Given the description of an element on the screen output the (x, y) to click on. 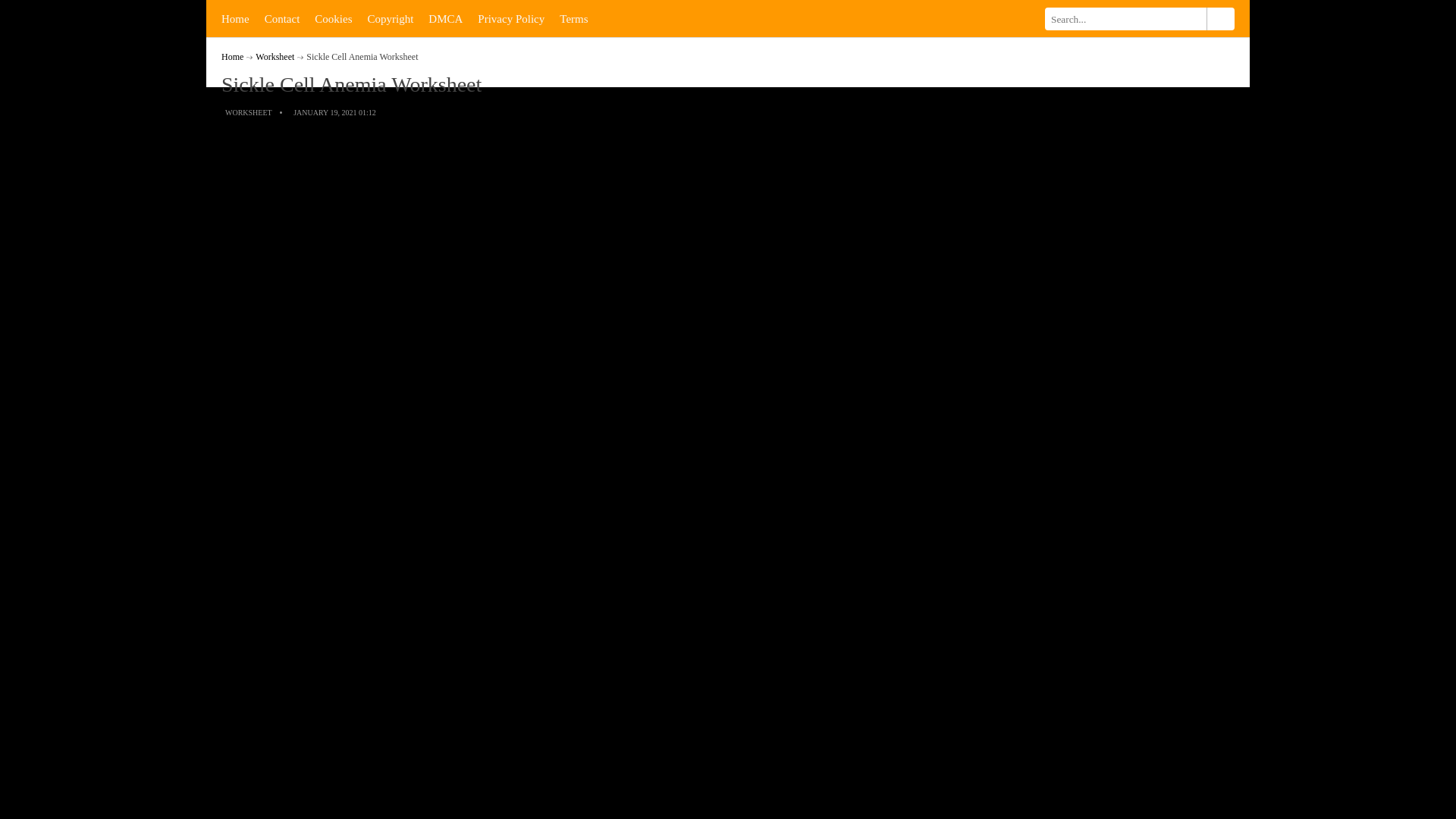
Contact (282, 18)
Privacy Policy (510, 18)
Copyright (389, 18)
Worksheet (275, 56)
Search (1219, 18)
DMCA (445, 18)
Cookies (333, 18)
Terms (573, 18)
Home (235, 18)
WORKSHEET (248, 112)
